Given the description of an element on the screen output the (x, y) to click on. 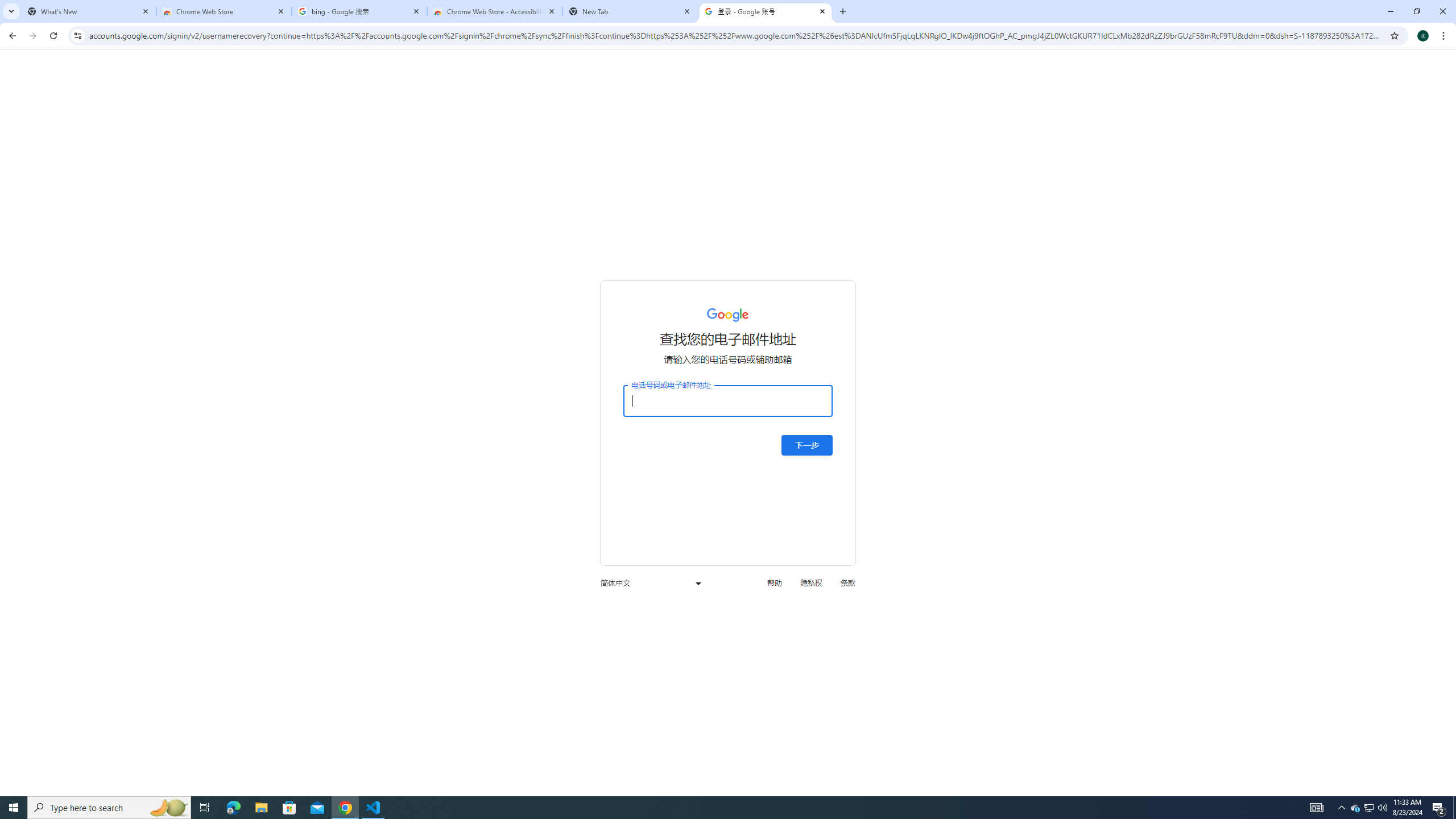
What's New (88, 11)
Chrome Web Store (224, 11)
Chrome Web Store - Accessibility (494, 11)
